Given the description of an element on the screen output the (x, y) to click on. 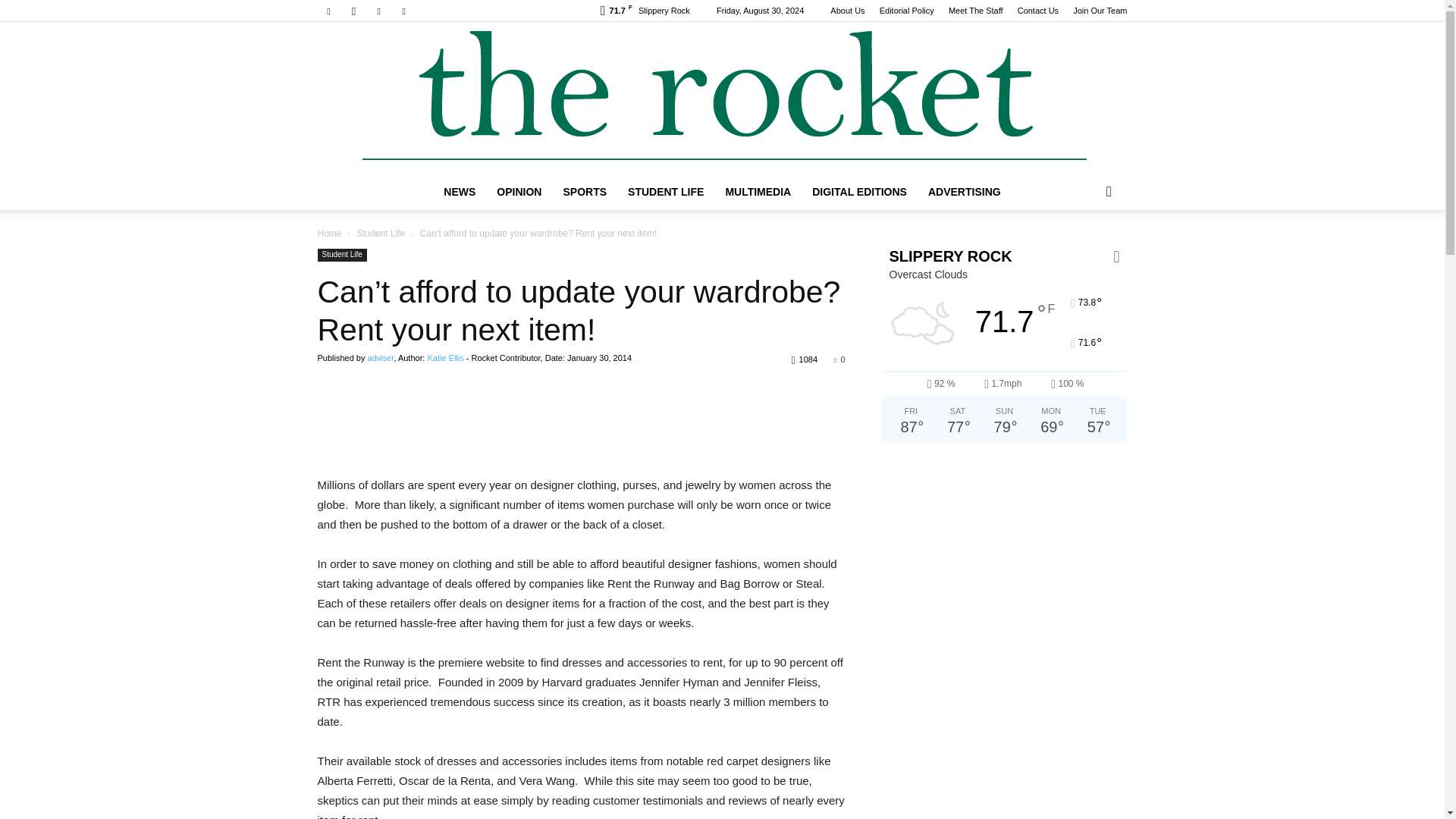
Search (1085, 252)
About Us (846, 10)
NEWS (459, 191)
DIGITAL EDITIONS (859, 191)
Meet The Staff (976, 10)
SPORTS (584, 191)
Contact Us (1037, 10)
Student Life (380, 233)
Home (328, 233)
ADVERTISING (964, 191)
